Given the description of an element on the screen output the (x, y) to click on. 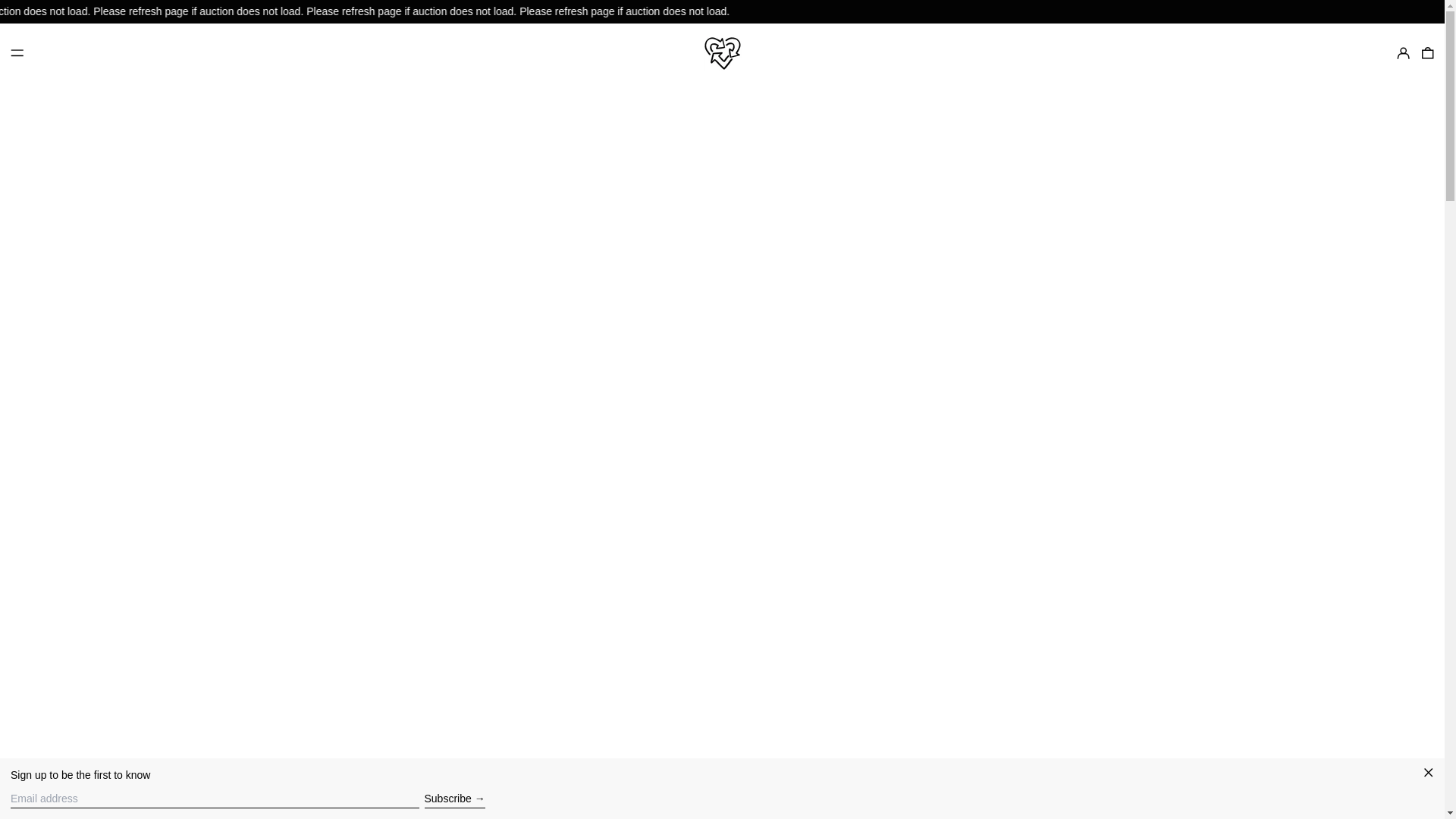
0 items (1427, 52)
Log in (1403, 52)
Menu (17, 52)
Close (1428, 773)
